Given the description of an element on the screen output the (x, y) to click on. 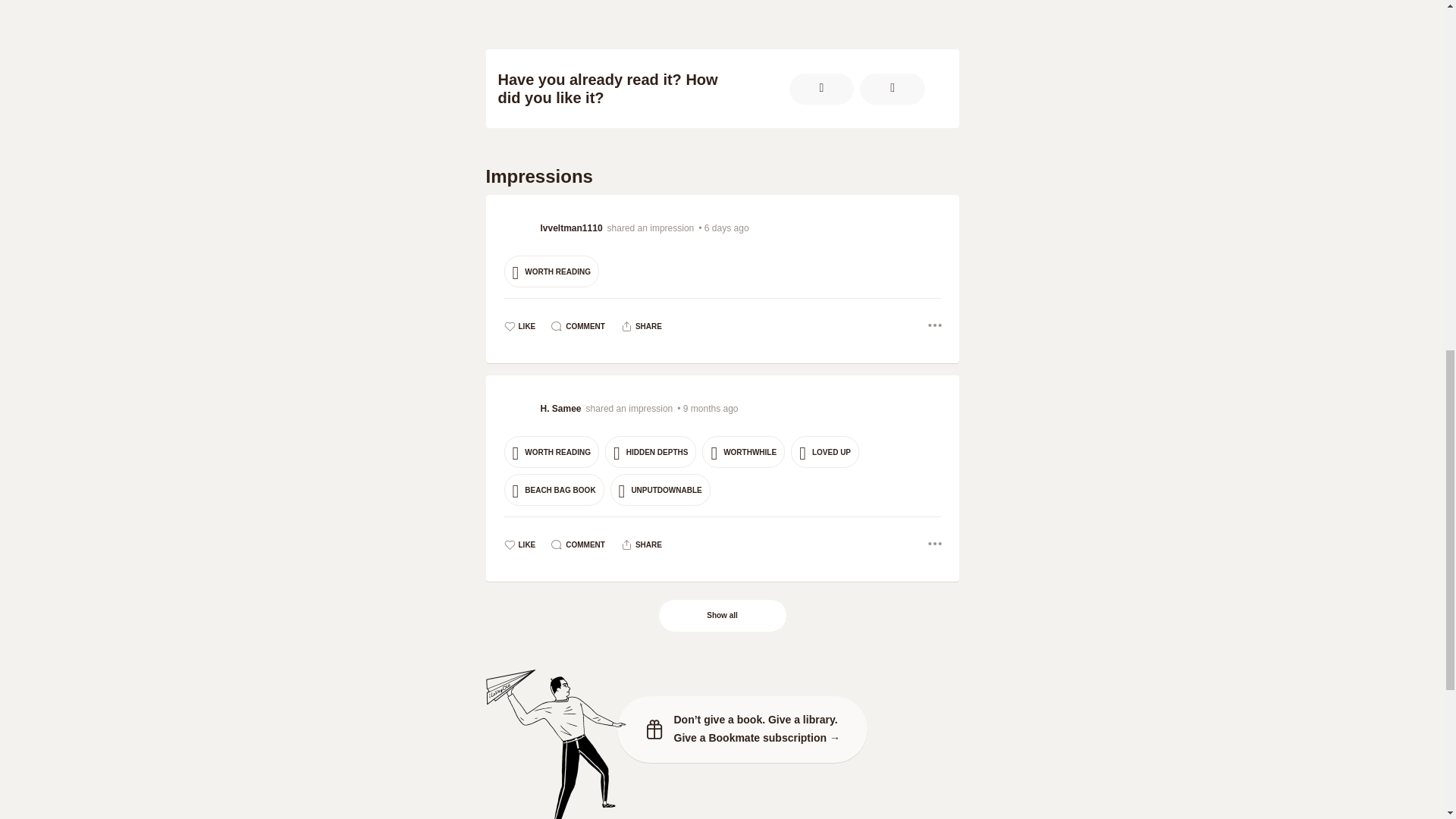
Show all (722, 615)
